Given the description of an element on the screen output the (x, y) to click on. 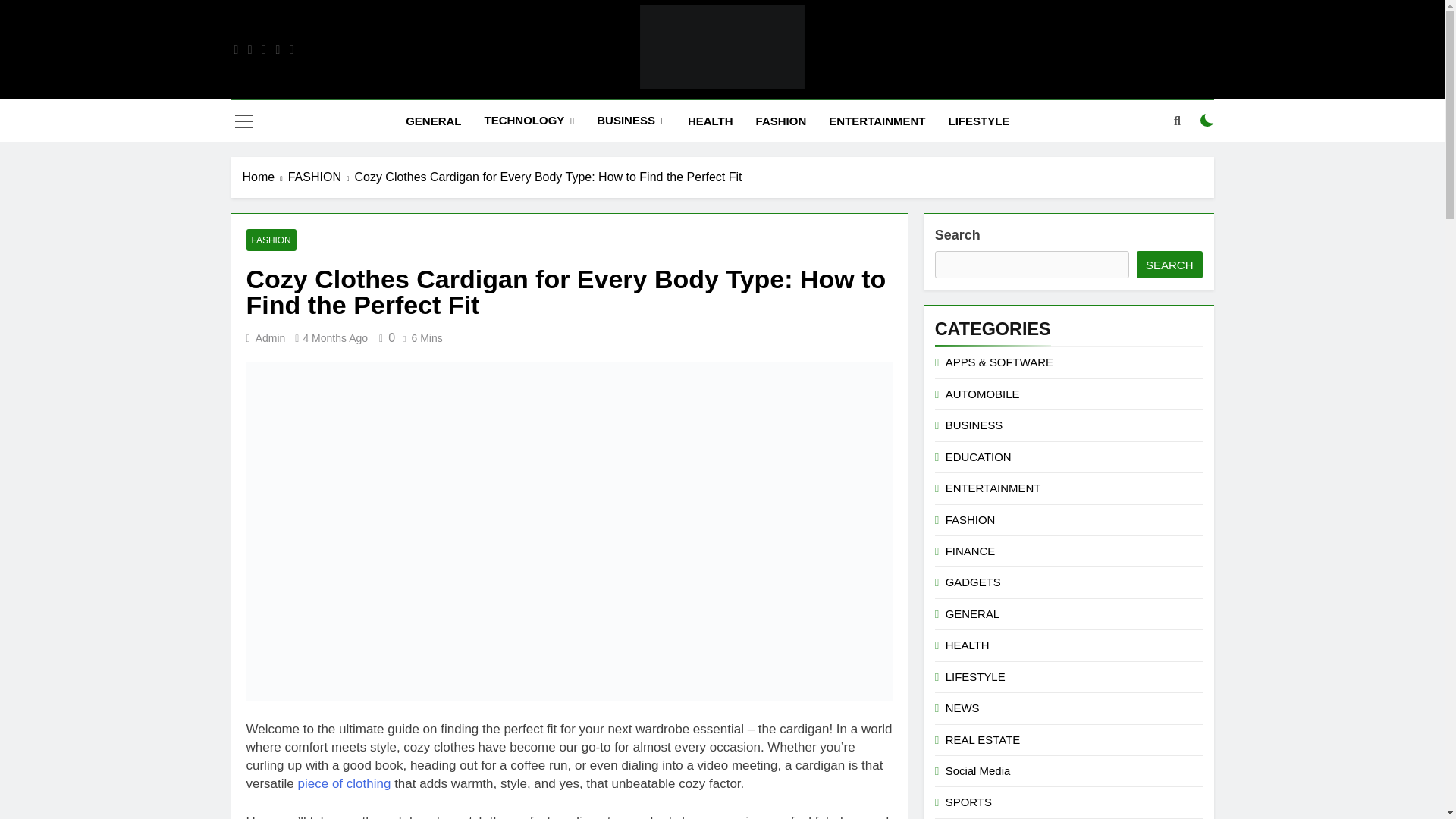
Actorwish (555, 111)
Admin (270, 337)
FASHION (781, 120)
TECHNOLOGY (528, 120)
HEALTH (710, 120)
0 (384, 337)
BUSINESS (631, 120)
FASHION (270, 239)
FASHION (321, 177)
GENERAL (432, 120)
Home (265, 177)
4 Months Ago (335, 337)
ENTERTAINMENT (876, 120)
LIFESTYLE (979, 120)
on (1206, 120)
